Given the description of an element on the screen output the (x, y) to click on. 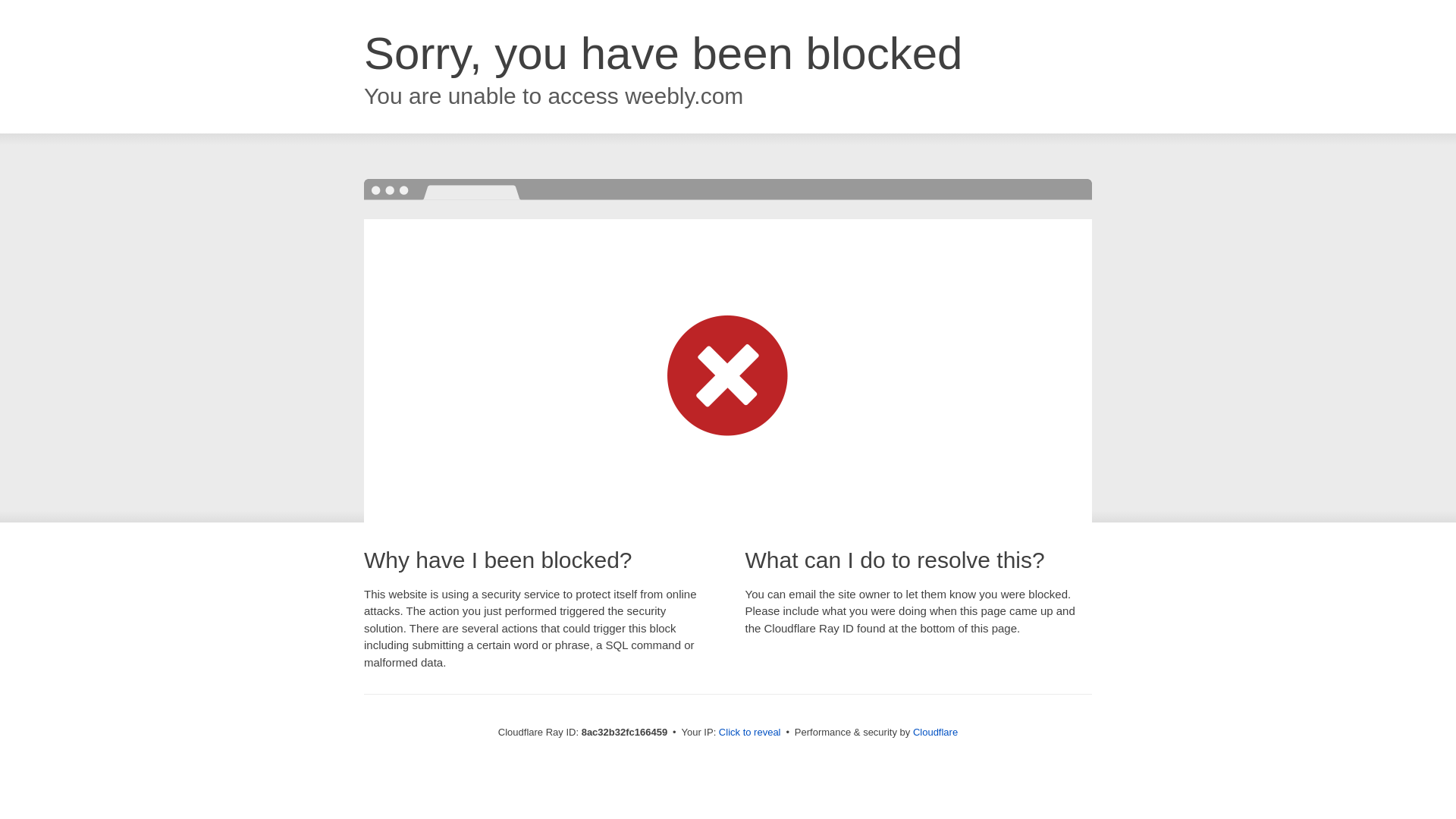
Cloudflare (935, 731)
Click to reveal (749, 732)
